Given the description of an element on the screen output the (x, y) to click on. 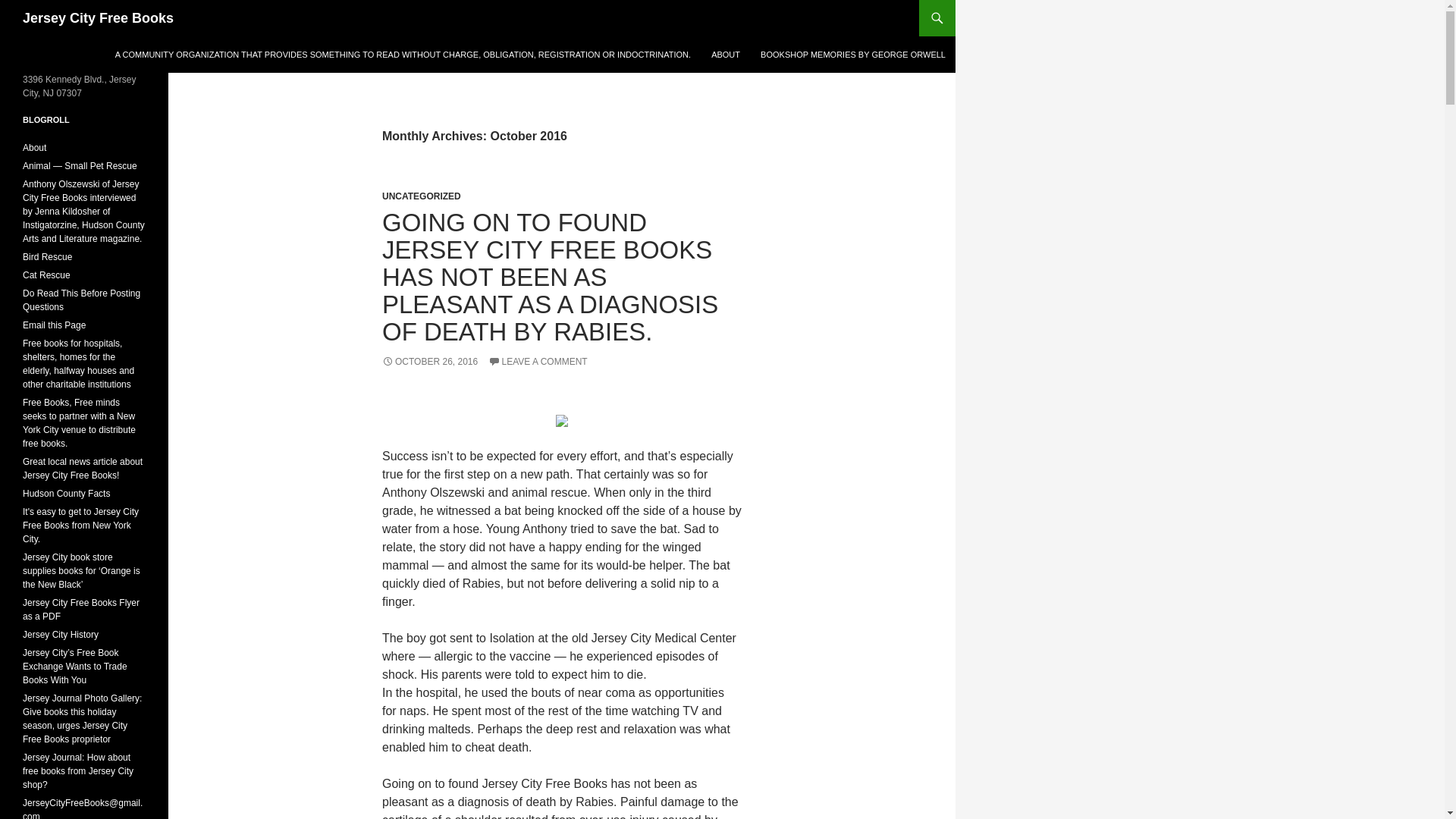
About (34, 147)
UNCATEGORIZED (421, 195)
Jersey City Free Books (98, 18)
ABOUT (725, 54)
BOOKSHOP MEMORIES BY GEORGE ORWELL (853, 54)
LEAVE A COMMENT (537, 361)
OCTOBER 26, 2016 (429, 361)
